Given the description of an element on the screen output the (x, y) to click on. 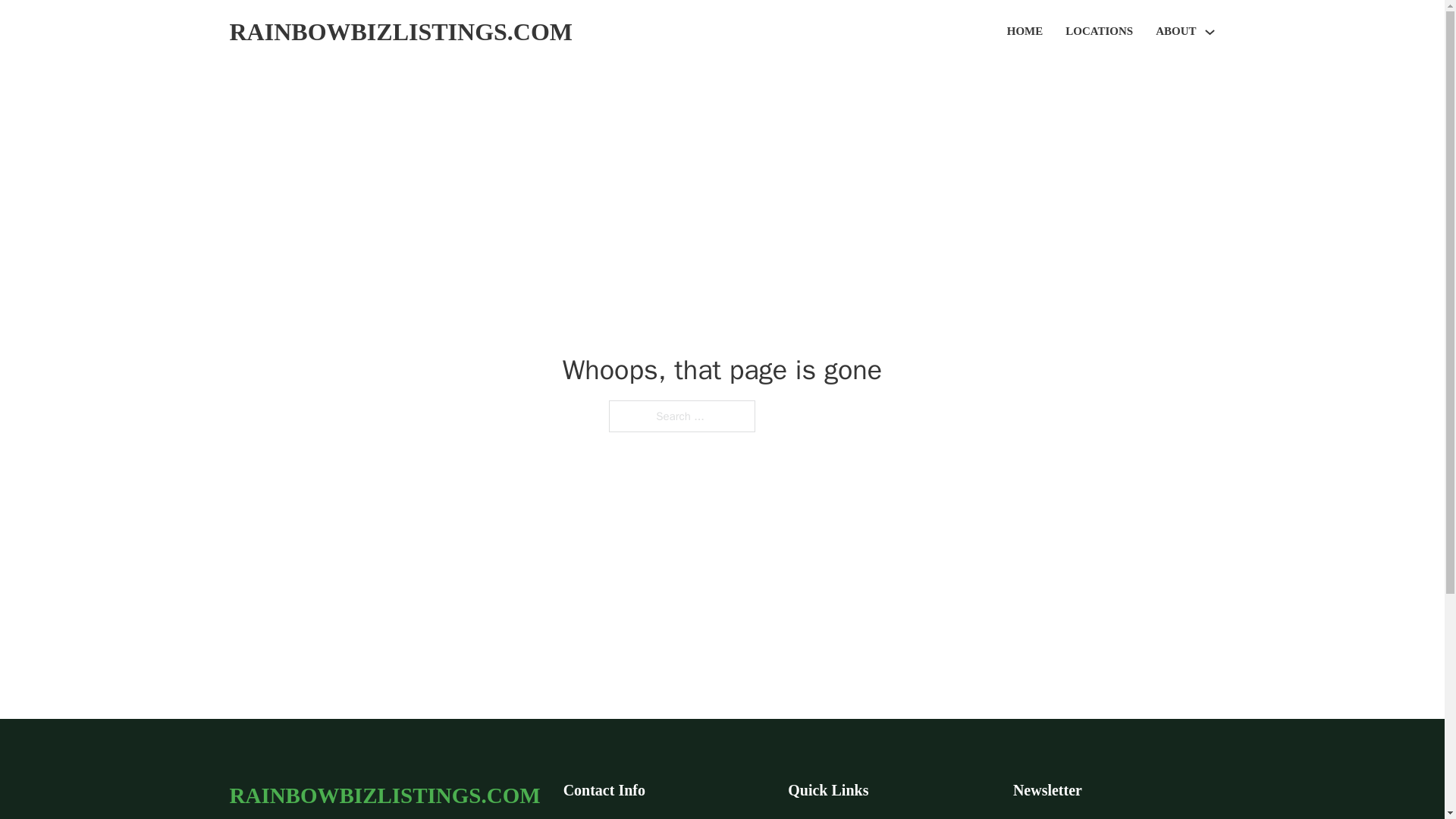
RAINBOWBIZLISTINGS.COM (400, 31)
LOCATIONS (1098, 31)
HOME (1025, 31)
RAINBOWBIZLISTINGS.COM (384, 795)
